Given the description of an element on the screen output the (x, y) to click on. 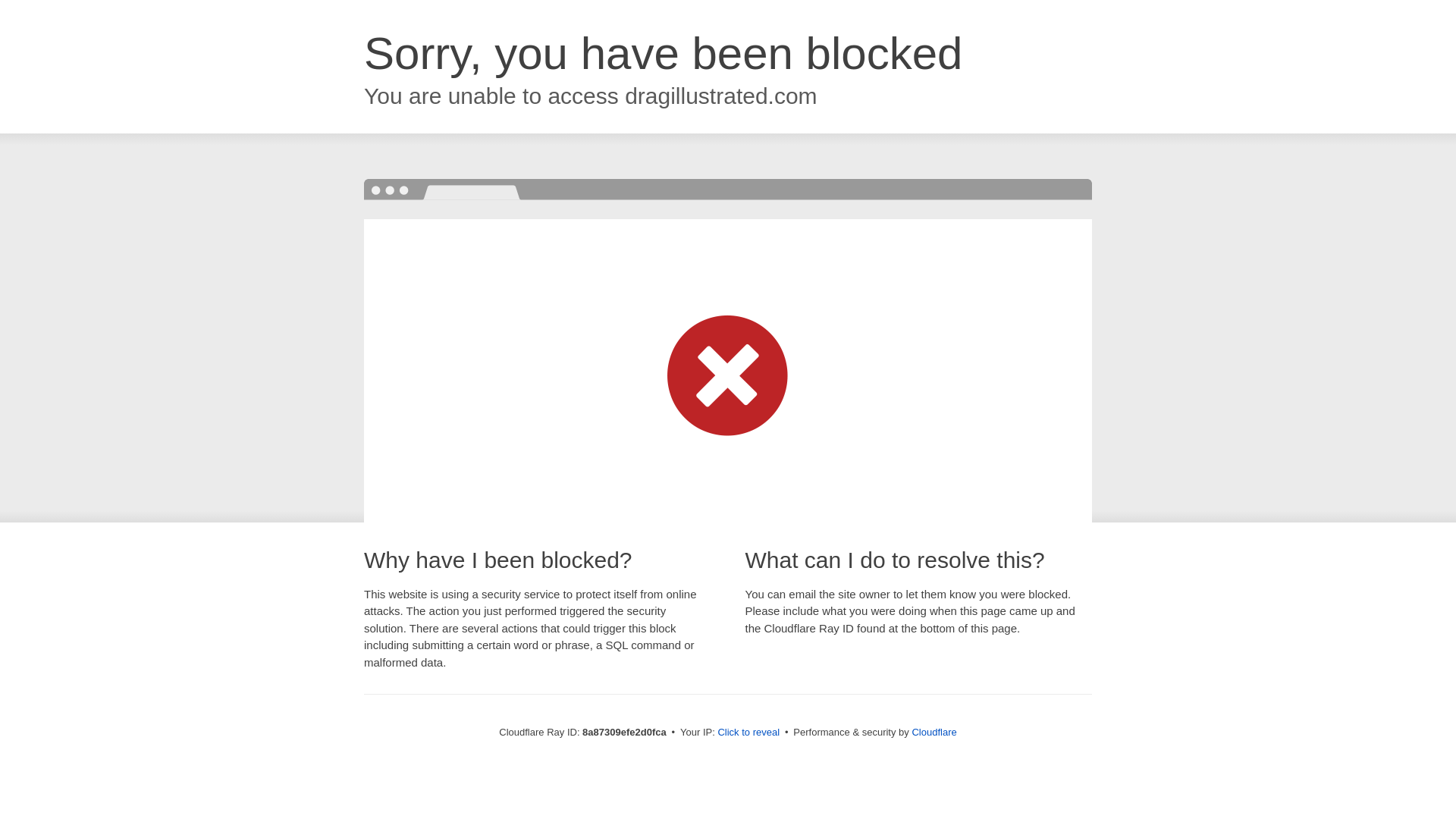
Click to reveal (747, 732)
Cloudflare (933, 731)
